Given the description of an element on the screen output the (x, y) to click on. 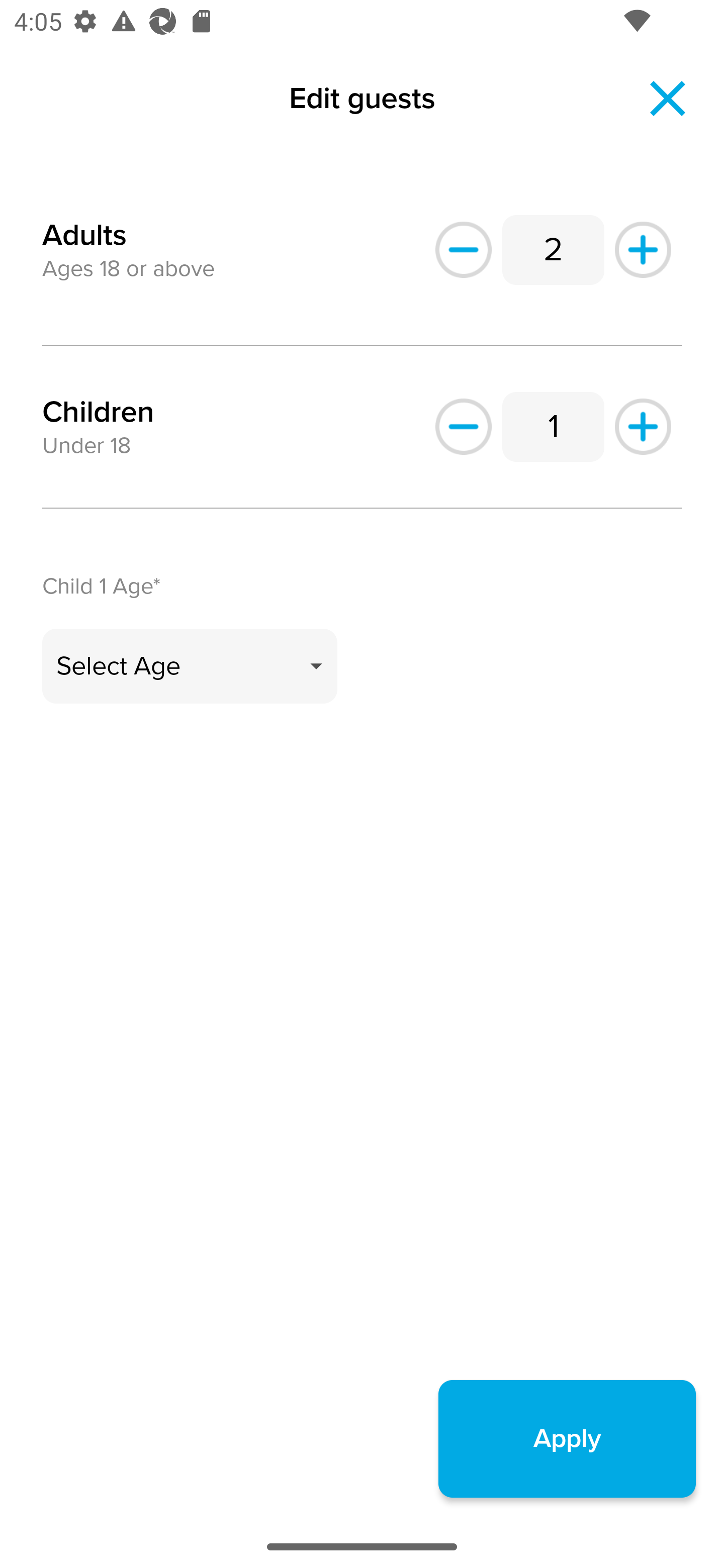
Adults (83, 223)
Children (97, 412)
Select Age (189, 666)
Apply (566, 1438)
